Given the description of an element on the screen output the (x, y) to click on. 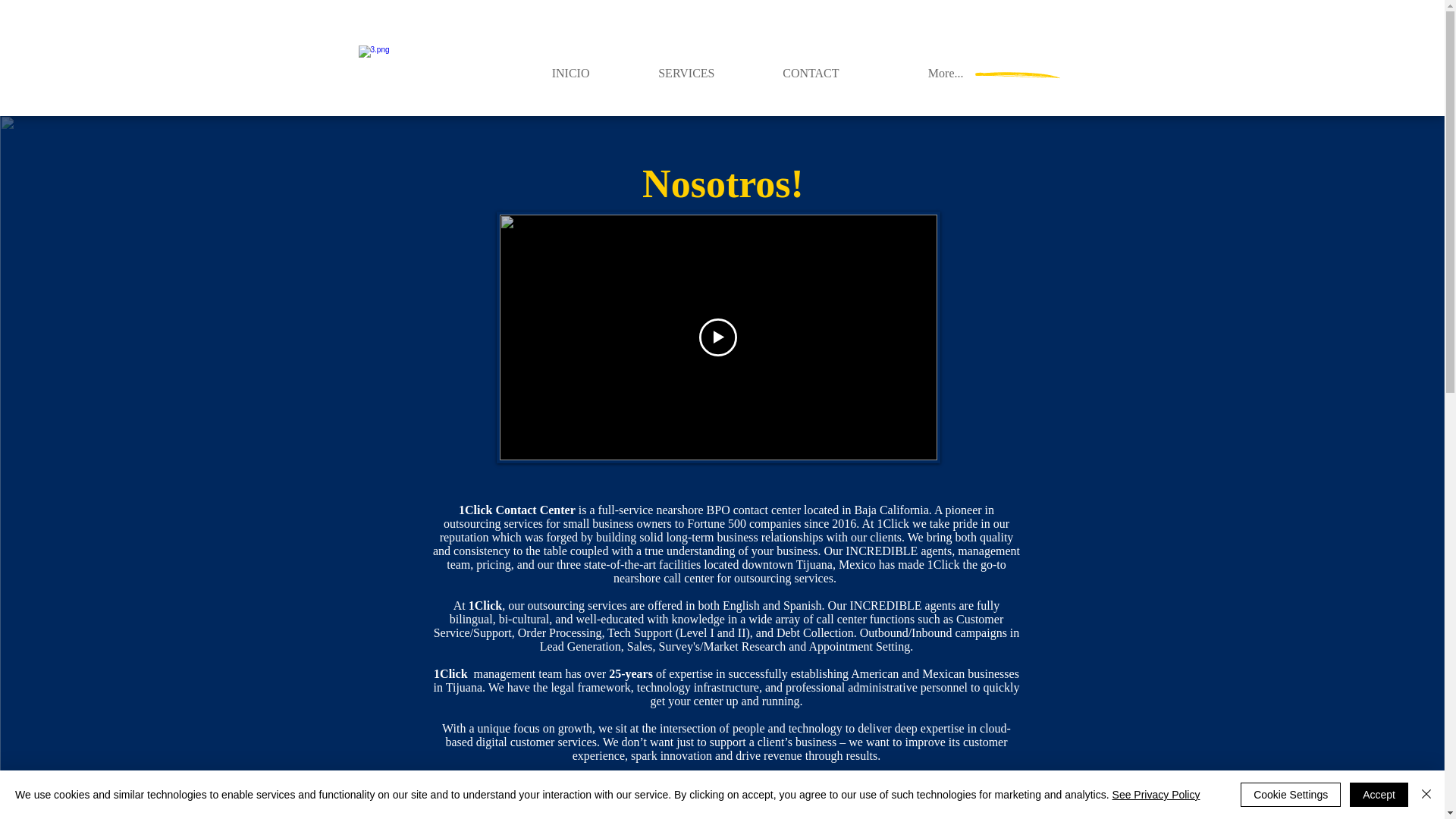
CONTACT Element type: text (788, 72)
INICIO Element type: text (538, 72)
Accept Element type: text (1378, 794)
SERVICES Element type: text (662, 72)
See Privacy Policy Element type: text (1156, 794)
Cookie Settings Element type: text (1290, 794)
